Given the description of an element on the screen output the (x, y) to click on. 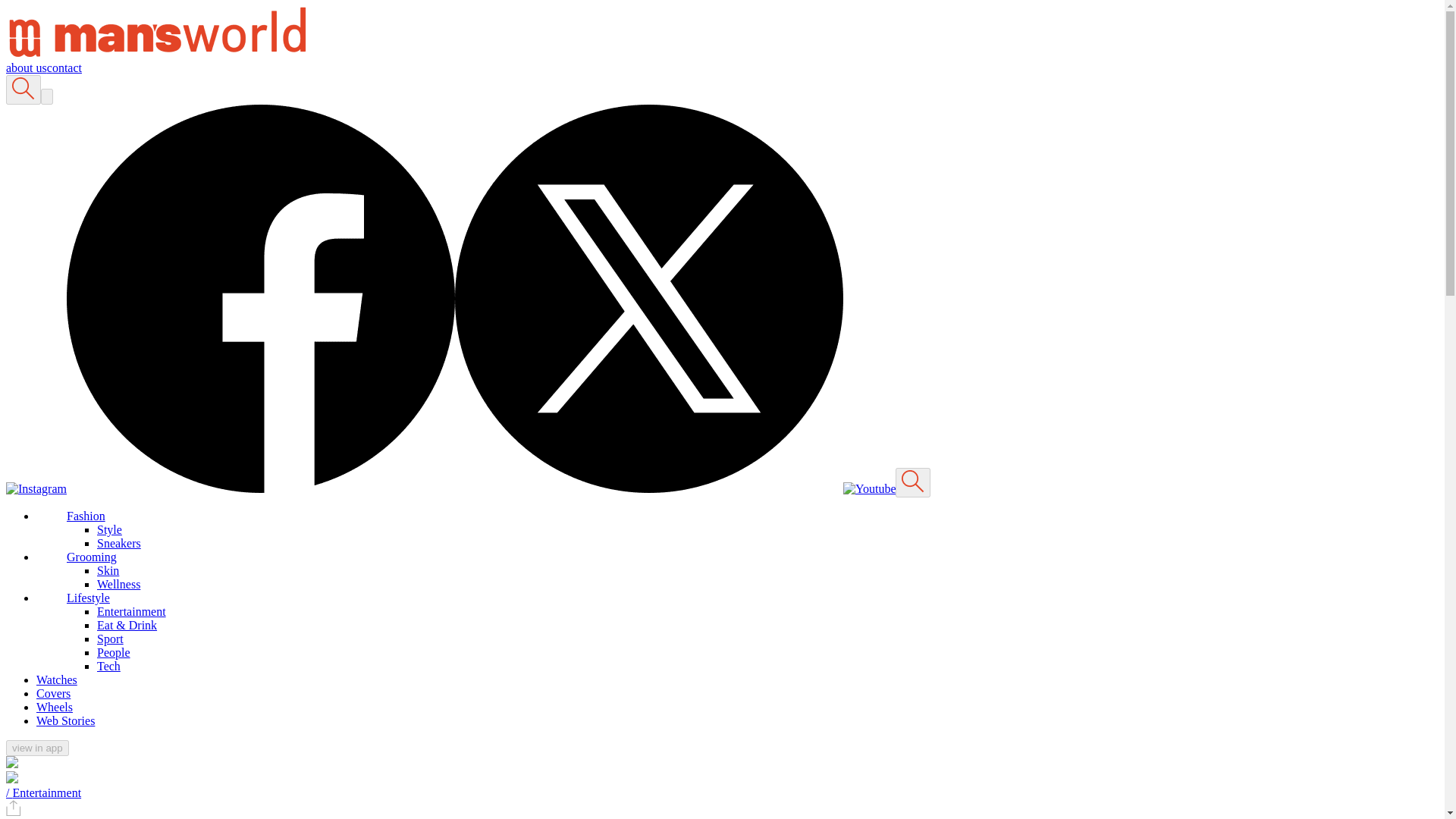
about us (25, 67)
Sneakers (119, 543)
Sport (110, 638)
Watches (56, 679)
Web Stories (65, 720)
Wellness (118, 584)
Fashion (85, 515)
Lifestyle (88, 597)
Tech (108, 666)
People (114, 652)
